Given the description of an element on the screen output the (x, y) to click on. 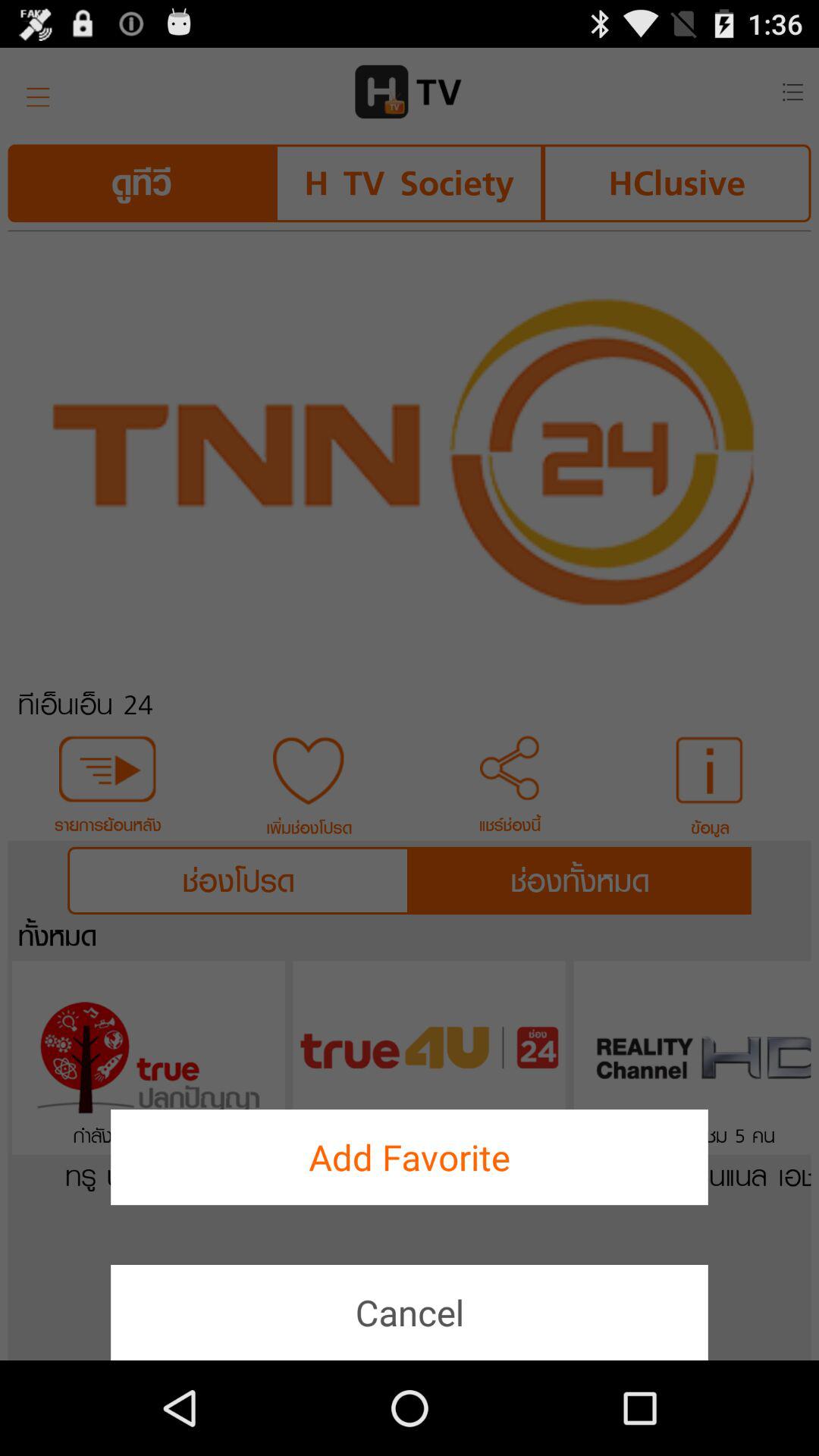
select add favorite button (409, 1157)
